Given the description of an element on the screen output the (x, y) to click on. 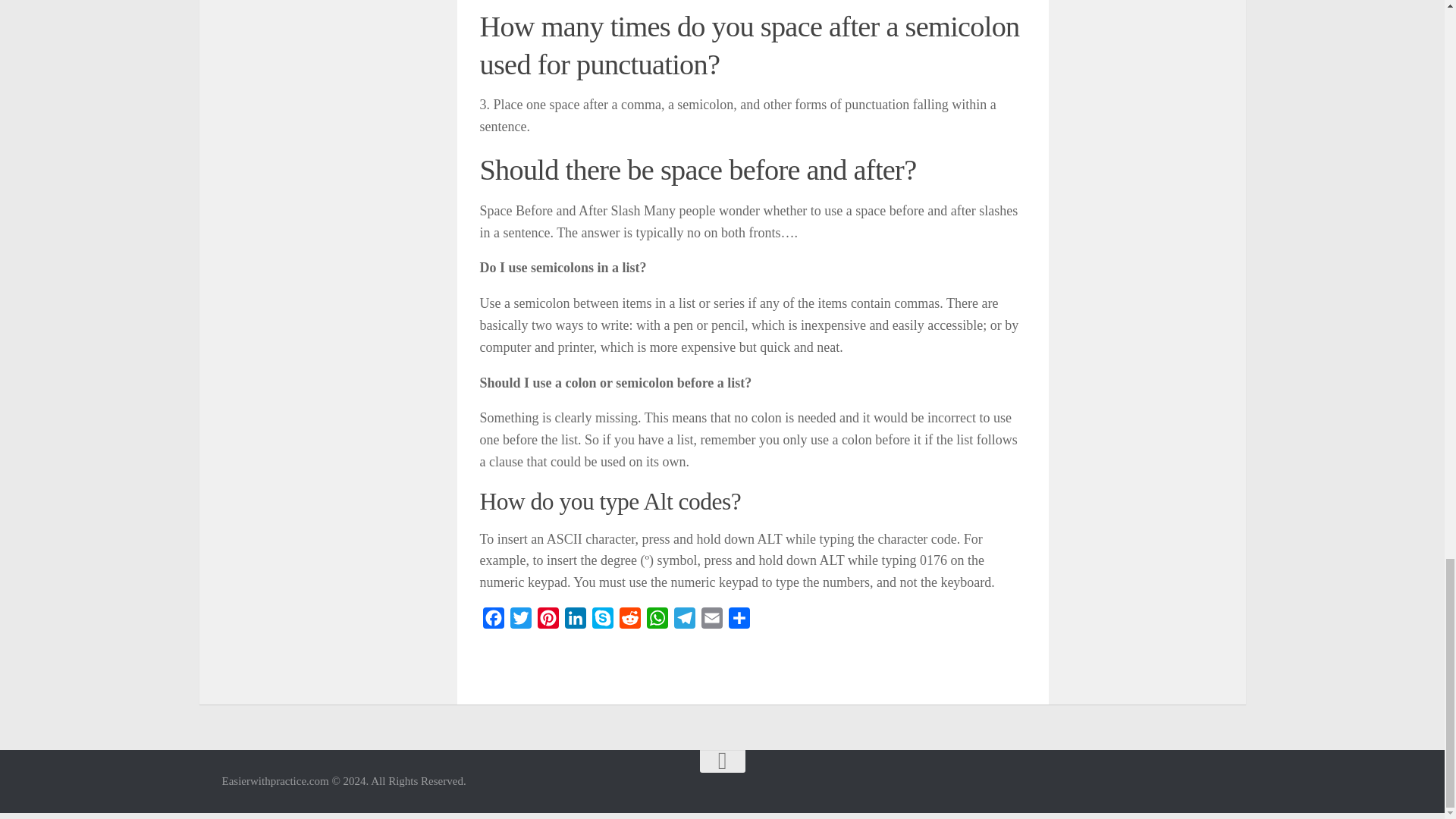
LinkedIn (574, 621)
Facebook (492, 621)
Telegram (683, 621)
Telegram (683, 621)
Twitter (520, 621)
Reddit (629, 621)
WhatsApp (656, 621)
Facebook (492, 621)
Skype (601, 621)
Reddit (629, 621)
Email (711, 621)
Email (711, 621)
Pinterest (547, 621)
LinkedIn (574, 621)
WhatsApp (656, 621)
